Given the description of an element on the screen output the (x, y) to click on. 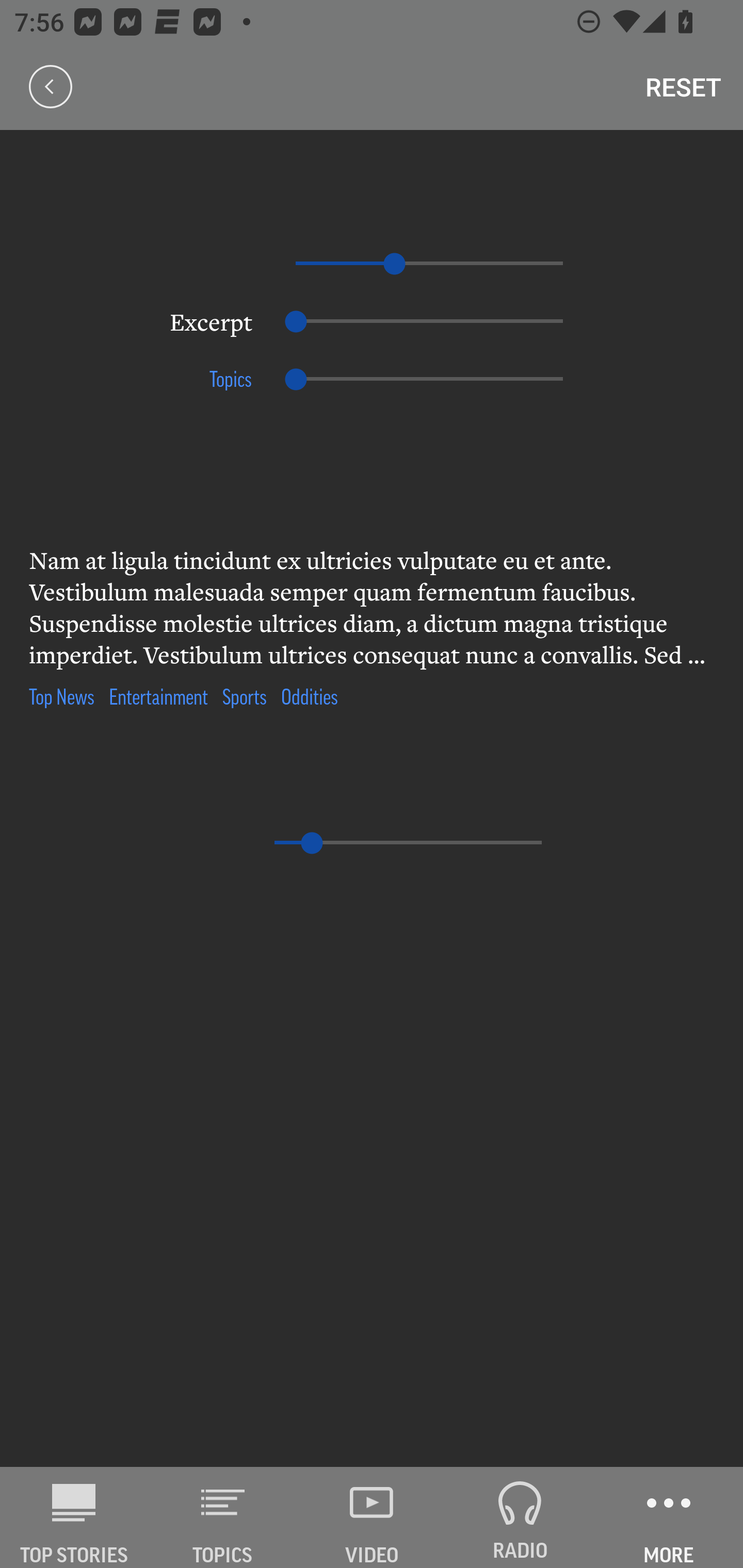
RESET (683, 86)
AP News TOP STORIES (74, 1517)
TOPICS (222, 1517)
VIDEO (371, 1517)
RADIO (519, 1517)
MORE (668, 1517)
